Given the description of an element on the screen output the (x, y) to click on. 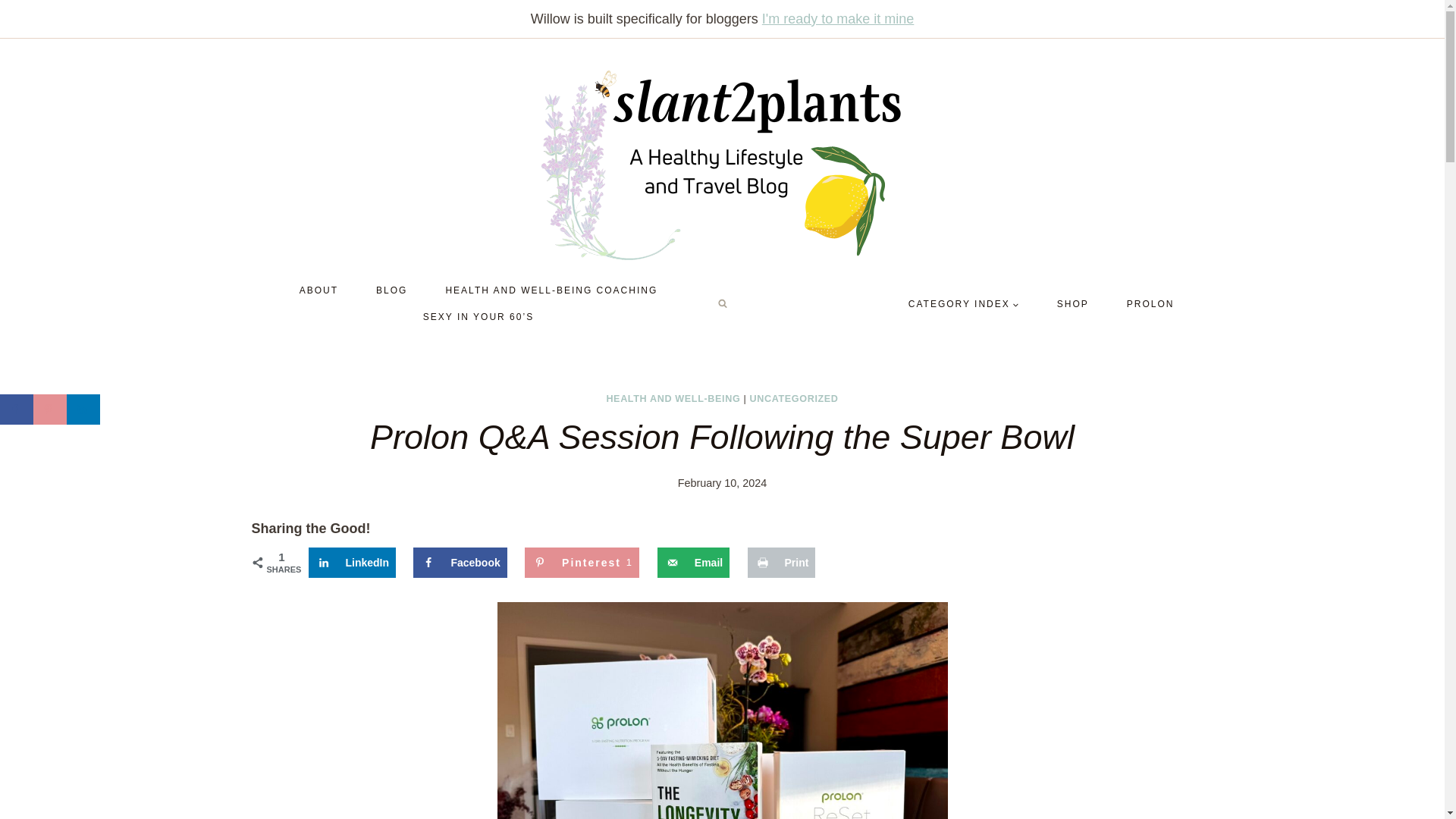
BLOG (391, 290)
I'm ready to make it mine (581, 562)
Save to Pinterest (837, 18)
Share on LinkedIn (581, 562)
Save to Pinterest (351, 562)
Share on Facebook (49, 409)
Send over email (459, 562)
Facebook (693, 562)
Print this webpage (459, 562)
